Given the description of an element on the screen output the (x, y) to click on. 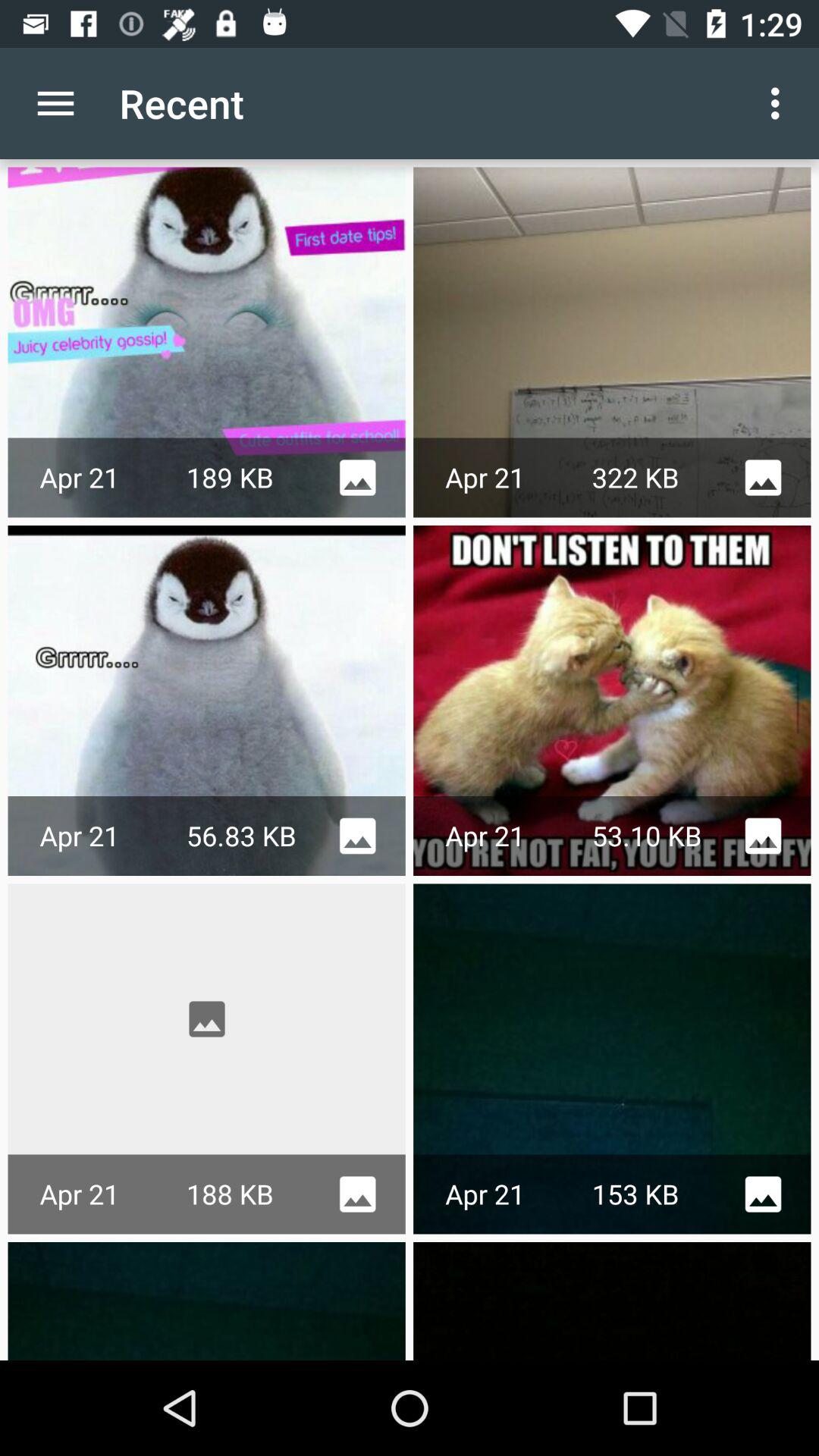
click item next to the recent app (55, 103)
